Given the description of an element on the screen output the (x, y) to click on. 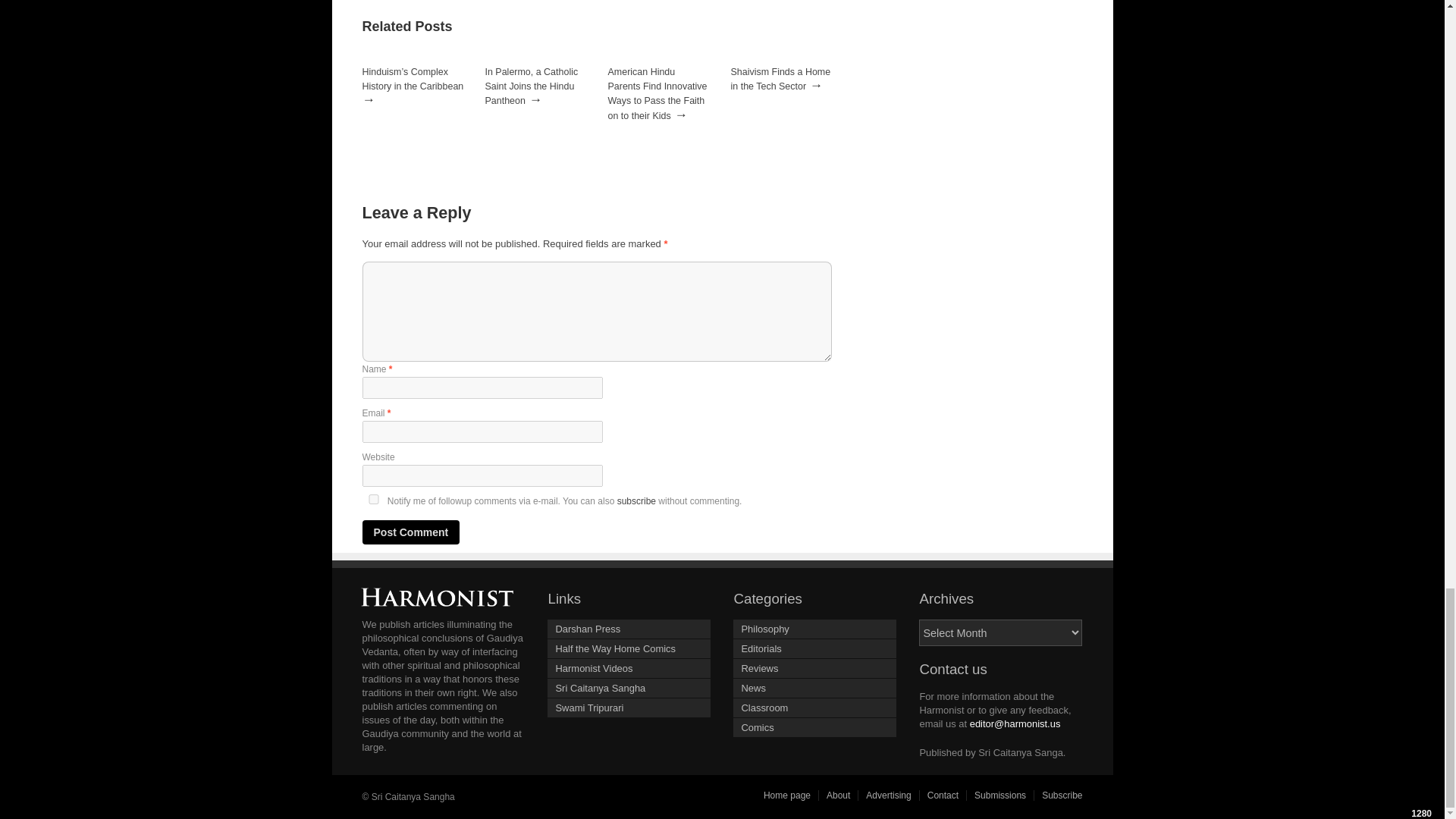
Post Comment (411, 532)
In Palermo, a Catholic Saint Joins the Hindu Pantheon (531, 86)
Shaivism Finds a Home in the Tech Sector (780, 78)
Shaivism Finds a Home in the Tech Sector (780, 78)
In Palermo, a Catholic Saint Joins the Hindu Pantheon (531, 86)
Post Comment (411, 532)
subscribe (636, 501)
yes (373, 499)
